Given the description of an element on the screen output the (x, y) to click on. 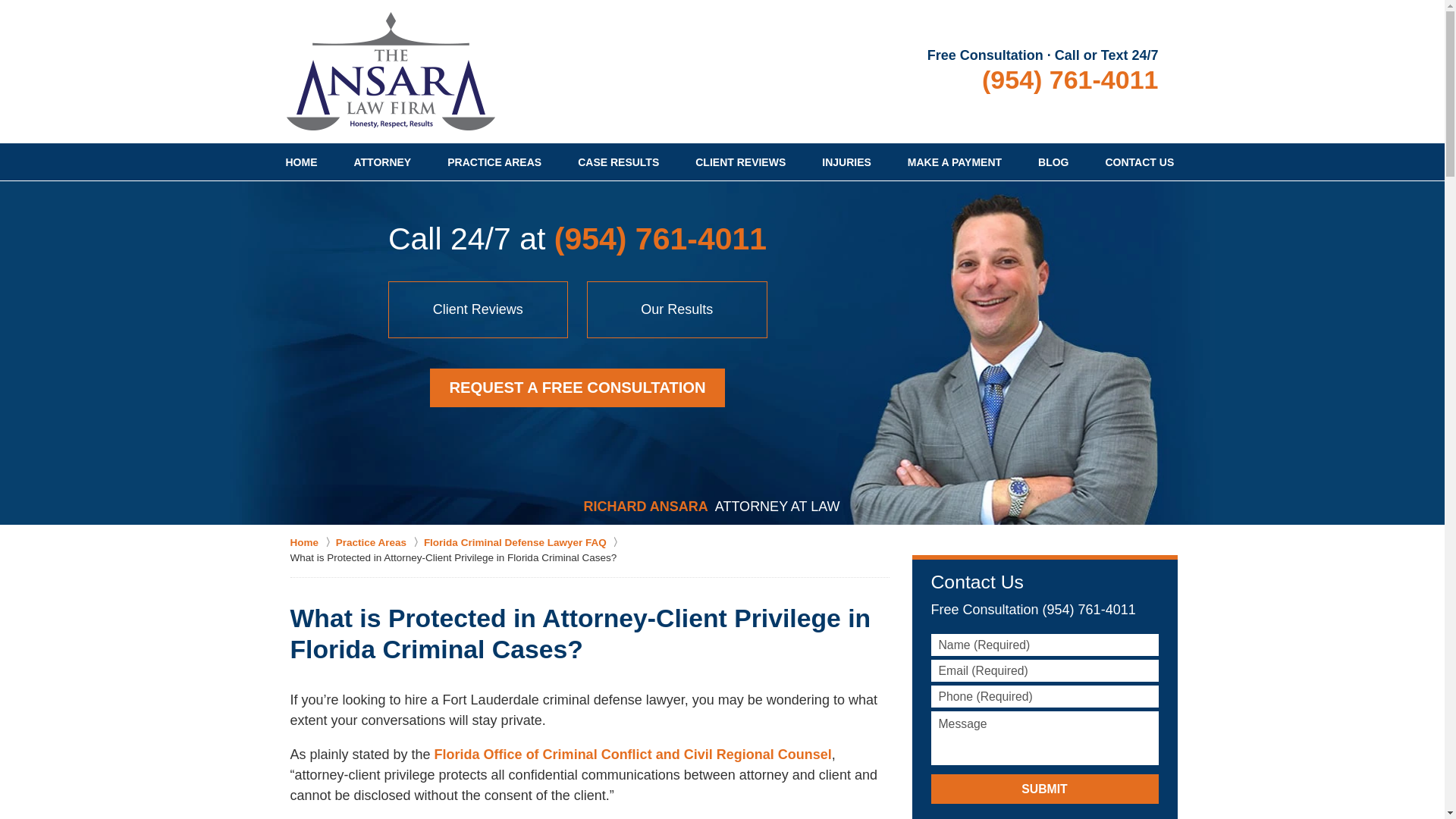
HOME (300, 161)
Home (311, 542)
BLOG (1053, 161)
Back to Home (390, 71)
Practice Areas (379, 542)
Client Reviews (478, 309)
INJURIES (846, 161)
PRACTICE AREAS (494, 161)
MAKE A PAYMENT (954, 161)
CLIENT REVIEWS (740, 161)
Fort Lauderdale Crime Lawyer The Ansara Law Firm Home (390, 71)
ATTORNEY (381, 161)
Florida Criminal Defense Lawyer FAQ (523, 542)
RICHARD ANSARA (645, 506)
